Given the description of an element on the screen output the (x, y) to click on. 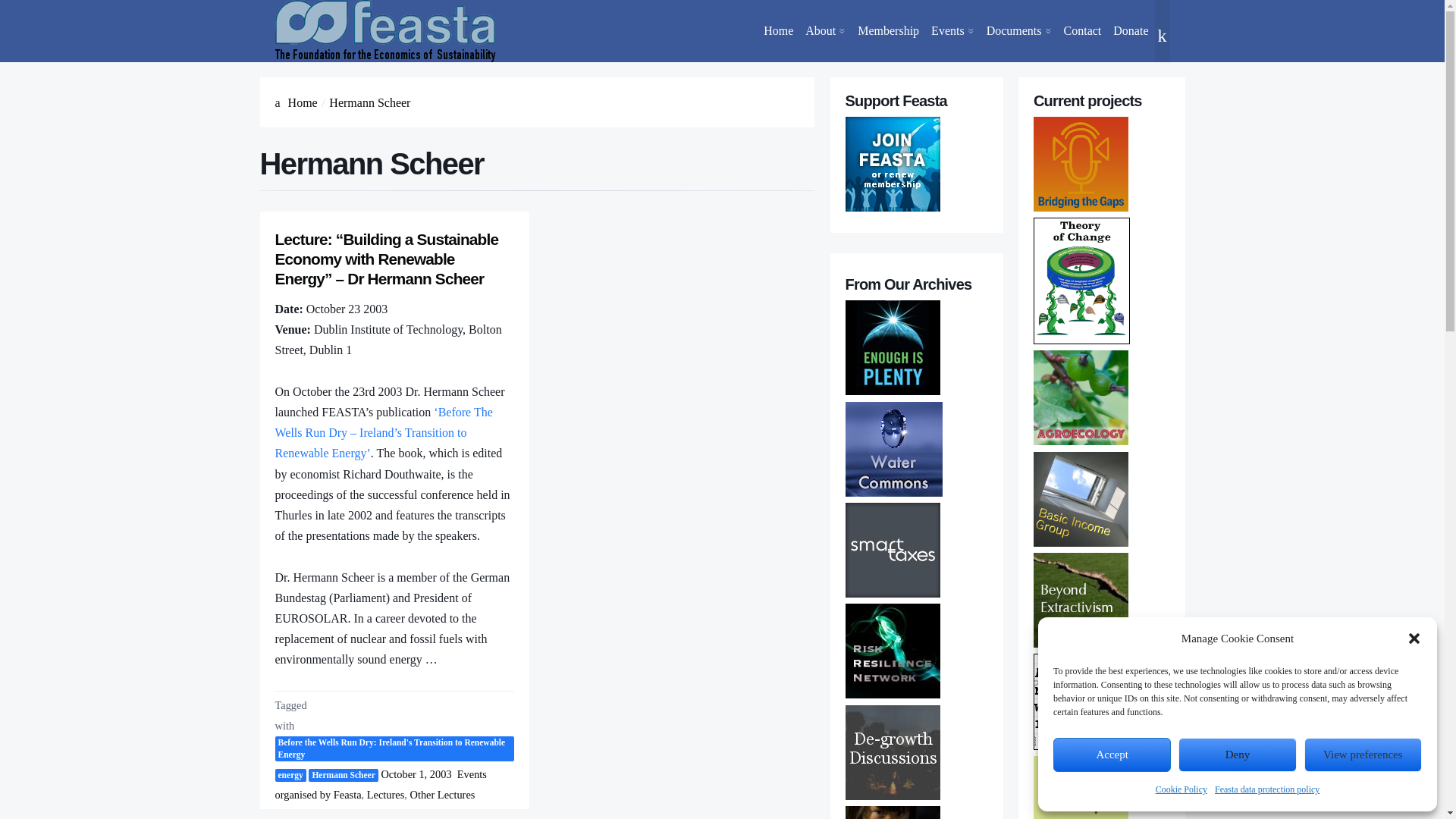
Membership (887, 31)
Events (951, 31)
7:50 pm (415, 774)
Accept (1111, 754)
Conferences (992, 121)
View preferences (1363, 754)
The Foundation for the Economics of Sustainability (385, 31)
Mission and Background (867, 320)
Cookie Policy (1181, 789)
Deny (1236, 754)
Events organised by Feasta (992, 132)
Feasta data protection policy (1266, 789)
Statement of Guiding Principles for Fundraising (867, 341)
